Given the description of an element on the screen output the (x, y) to click on. 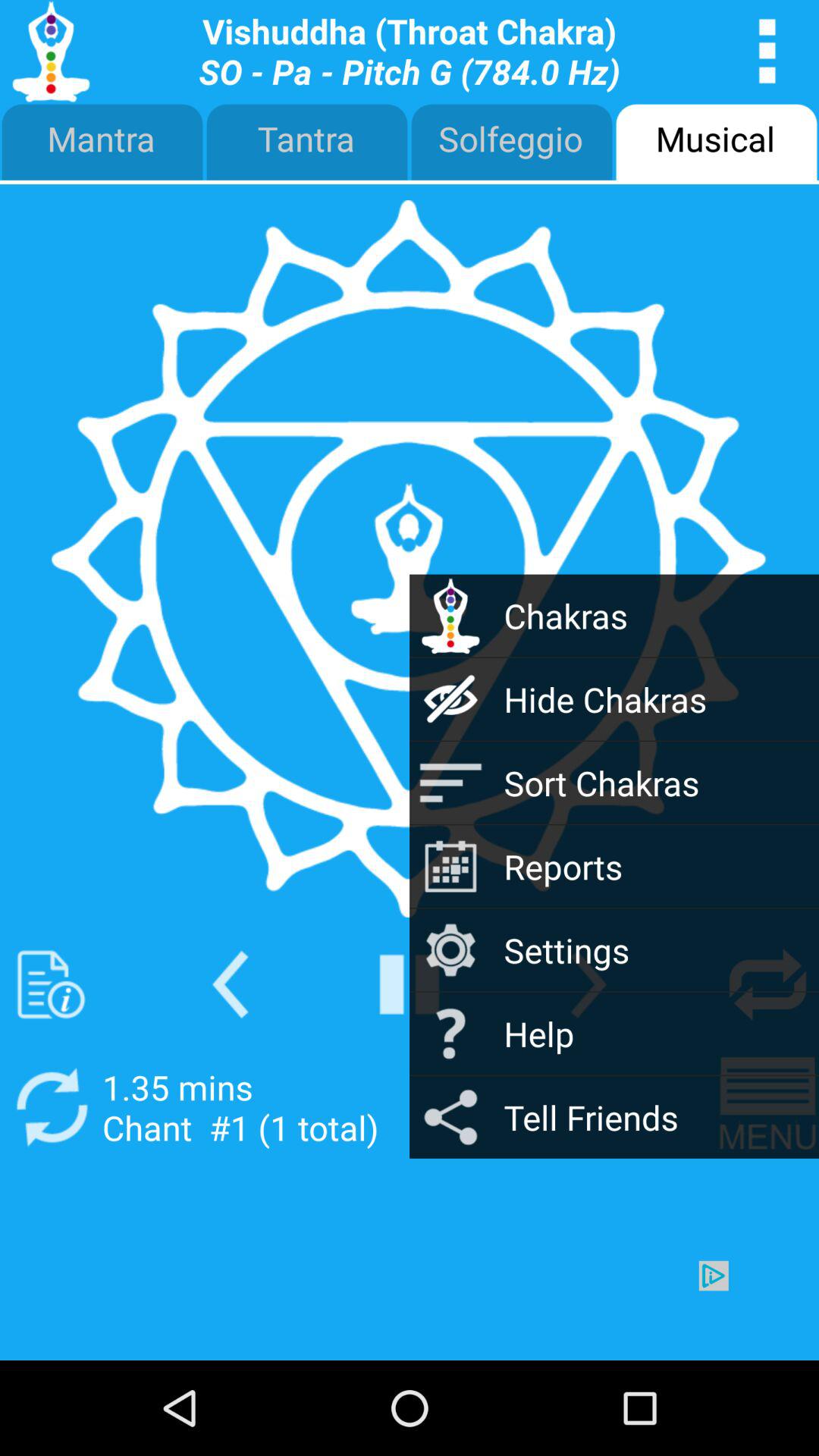
select the title (409, 51)
click the tab tantra on the web page (306, 142)
click on the question mark icon (450, 1033)
click the share button on the web page (450, 1116)
